Given the description of an element on the screen output the (x, y) to click on. 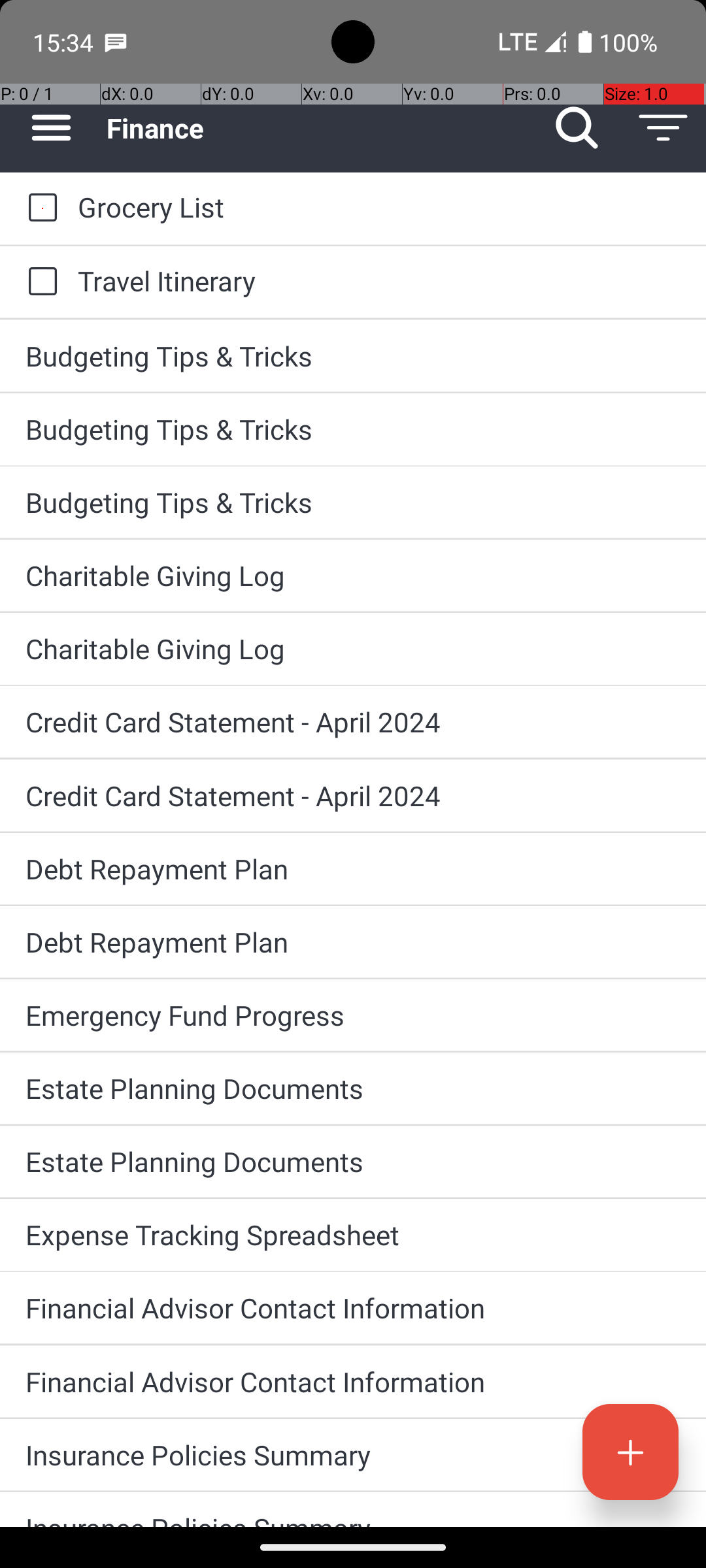
to-do: Grocery List Element type: android.widget.CheckBox (38, 208)
Grocery List Element type: android.widget.TextView (378, 206)
to-do: Travel Itinerary Element type: android.widget.CheckBox (38, 282)
Travel Itinerary Element type: android.widget.TextView (378, 280)
Charitable Giving Log Element type: android.widget.TextView (352, 574)
Credit Card Statement - April 2024 Element type: android.widget.TextView (352, 721)
Debt Repayment Plan Element type: android.widget.TextView (352, 868)
Emergency Fund Progress Element type: android.widget.TextView (352, 1014)
Estate Planning Documents Element type: android.widget.TextView (352, 1087)
Expense Tracking Spreadsheet Element type: android.widget.TextView (352, 1234)
Insurance Policies Summary Element type: android.widget.TextView (352, 1454)
